Given the description of an element on the screen output the (x, y) to click on. 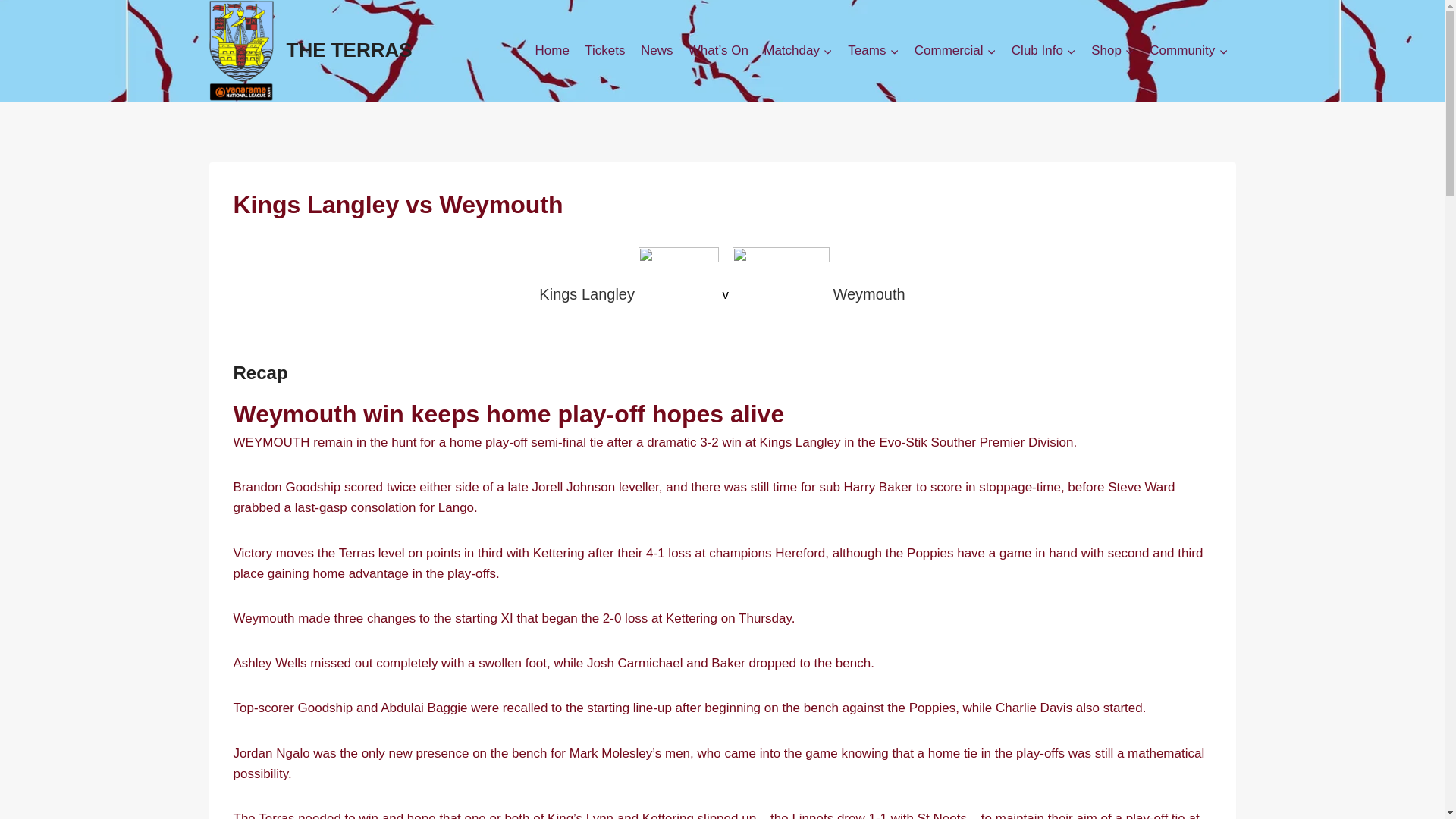
Teams (872, 50)
Tickets (604, 50)
Home (551, 50)
Matchday (797, 50)
THE TERRAS (310, 50)
News (657, 50)
